Given the description of an element on the screen output the (x, y) to click on. 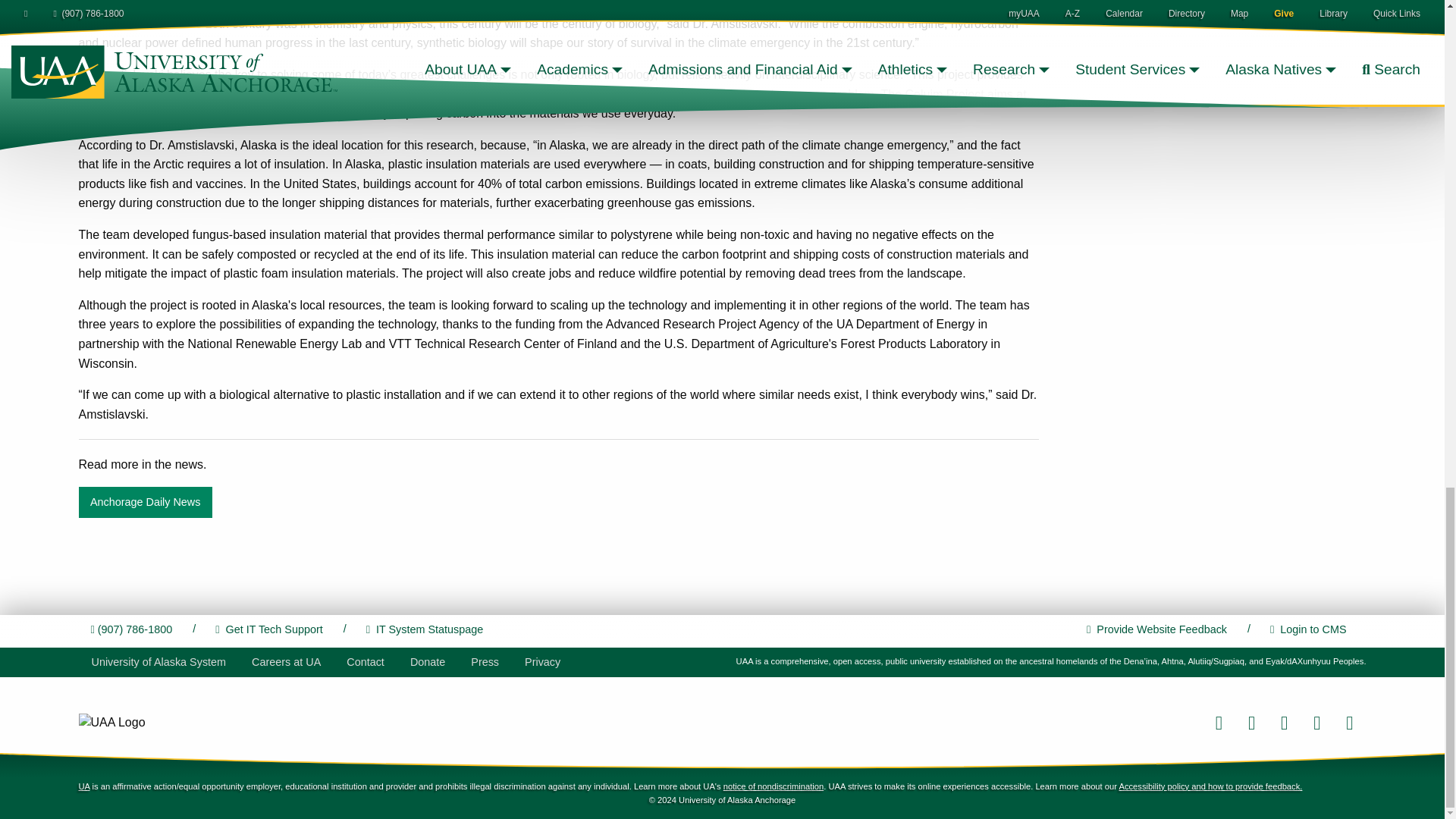
UAA YouTube (1349, 722)
UAA Twitter (1251, 722)
UAA LinkedIn (1316, 722)
UAA Facebook (1218, 722)
UAA Instagram (1284, 722)
